Given the description of an element on the screen output the (x, y) to click on. 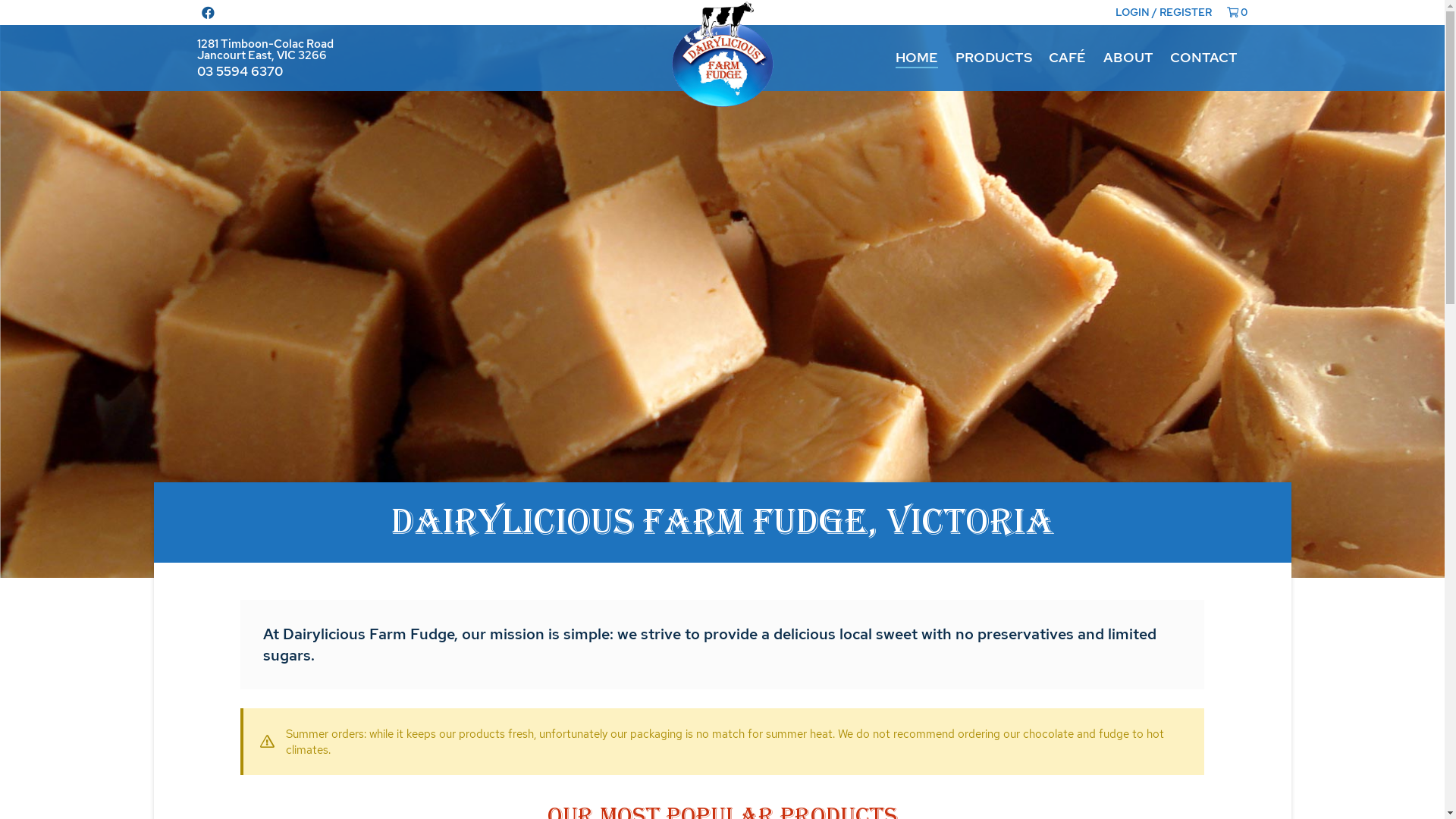
03 5594 6370 Element type: text (239, 70)
PRODUCTS Element type: text (993, 57)
LOGIN / REGISTER Element type: text (1163, 12)
Dairylicious Farm Fudge Element type: hover (722, 53)
0 Element type: text (1236, 12)
Dairylicious-Farm-Fudge-Fudge-Close-Up Element type: hover (722, 288)
CONTACT Element type: text (1203, 57)
ABOUT Element type: text (1127, 57)
HOME Element type: text (916, 57)
